Given the description of an element on the screen output the (x, y) to click on. 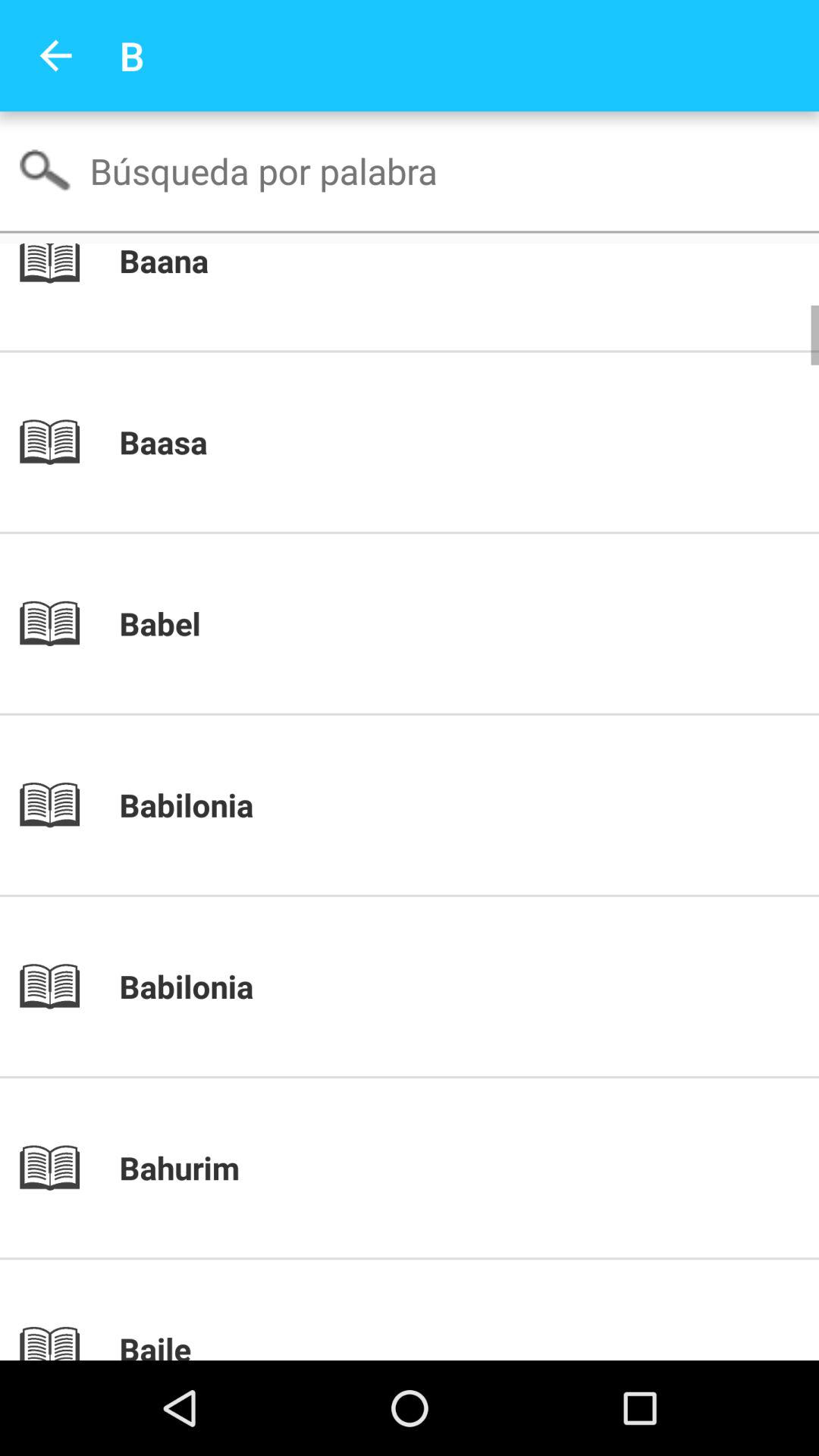
tap baasa icon (435, 442)
